Given the description of an element on the screen output the (x, y) to click on. 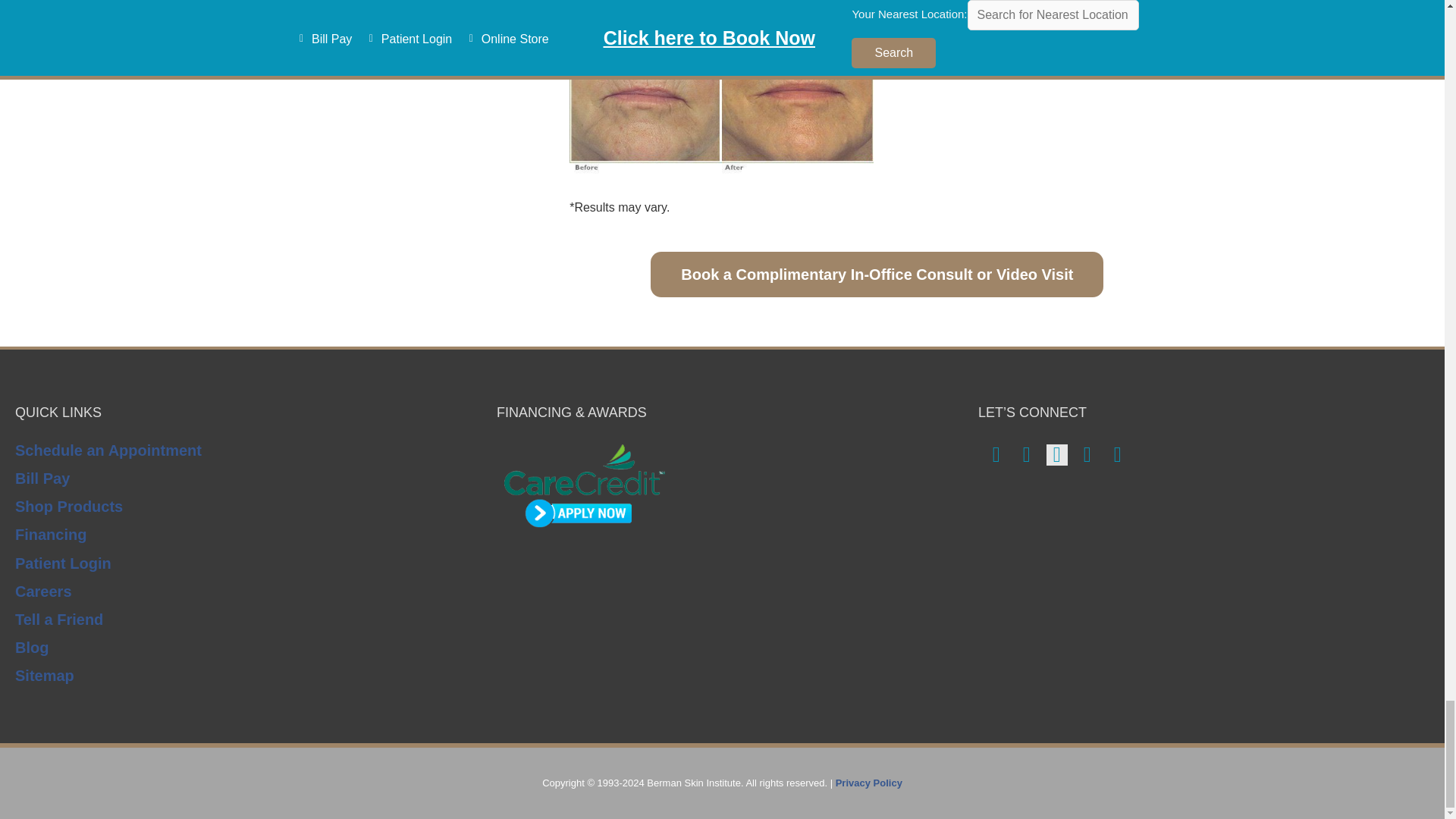
wrinkles aging11 (721, 116)
wrinkles aging10 (1032, 23)
